Given the description of an element on the screen output the (x, y) to click on. 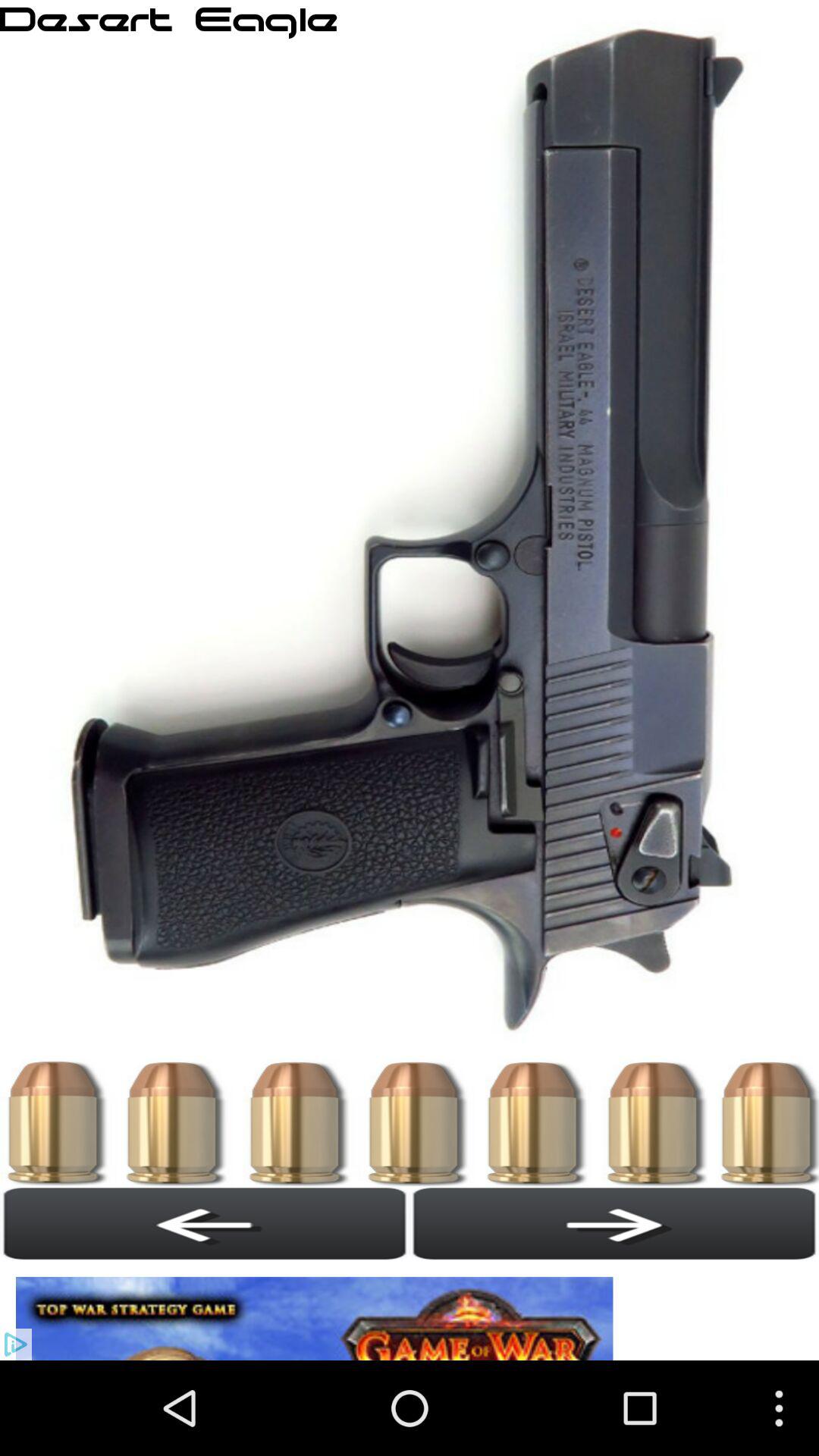
next (614, 1223)
